Given the description of an element on the screen output the (x, y) to click on. 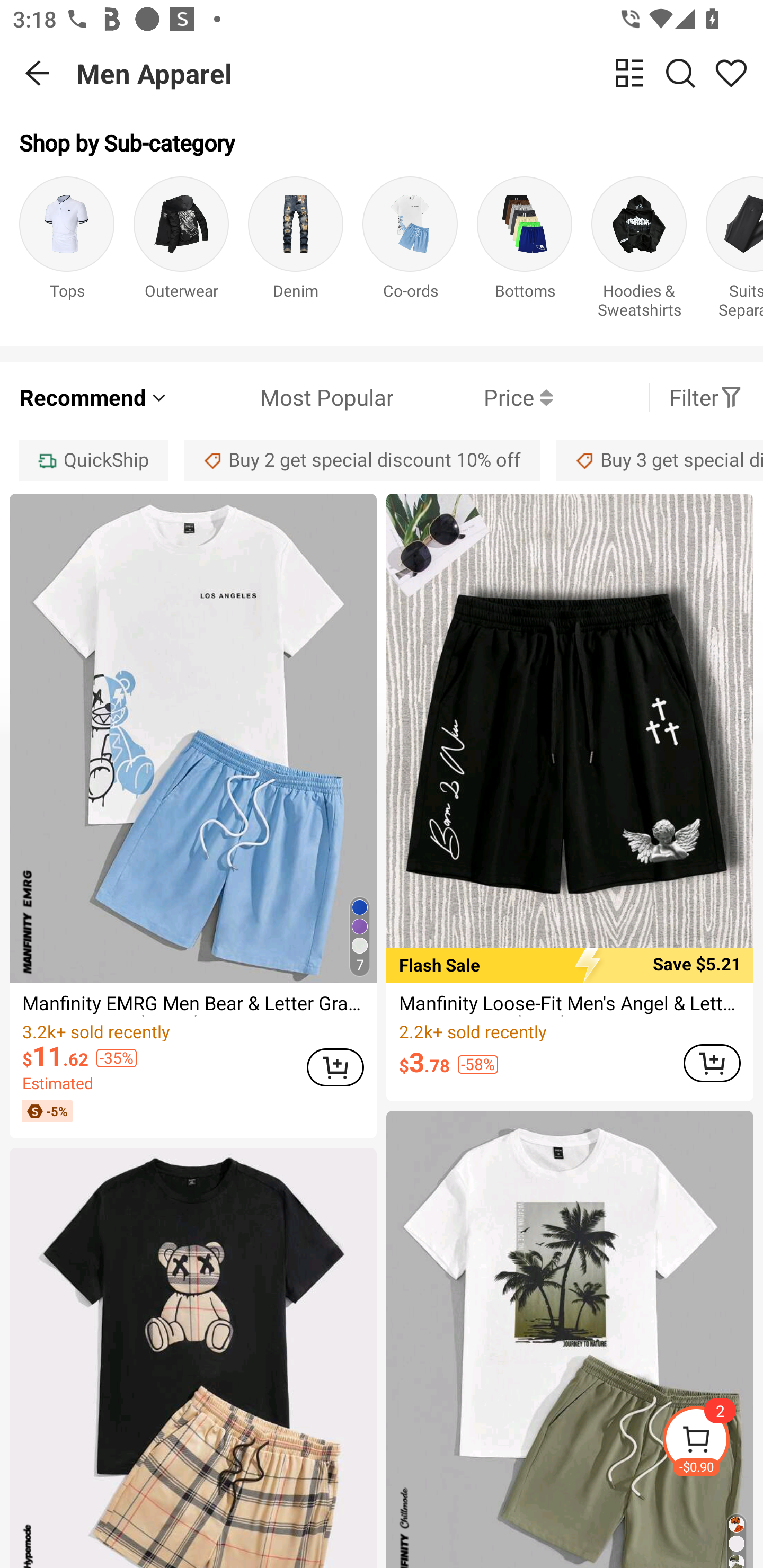
Men Apparel change view Search Share (419, 72)
change view (629, 72)
Search (679, 72)
Share (730, 72)
Tops (66, 251)
Outerwear (180, 251)
Denim (295, 251)
Co-ords (409, 251)
Bottoms (524, 251)
Hoodies & Sweatshirts (638, 251)
Suits & Separates (734, 251)
Recommend (94, 397)
Most Popular (280, 397)
Price (472, 397)
Filter (705, 397)
QuickShip (93, 460)
Buy 2 get special discount 10% off (361, 460)
ADD TO CART (711, 1062)
ADD TO CART (334, 1067)
-$0.90 (712, 1441)
